Given the description of an element on the screen output the (x, y) to click on. 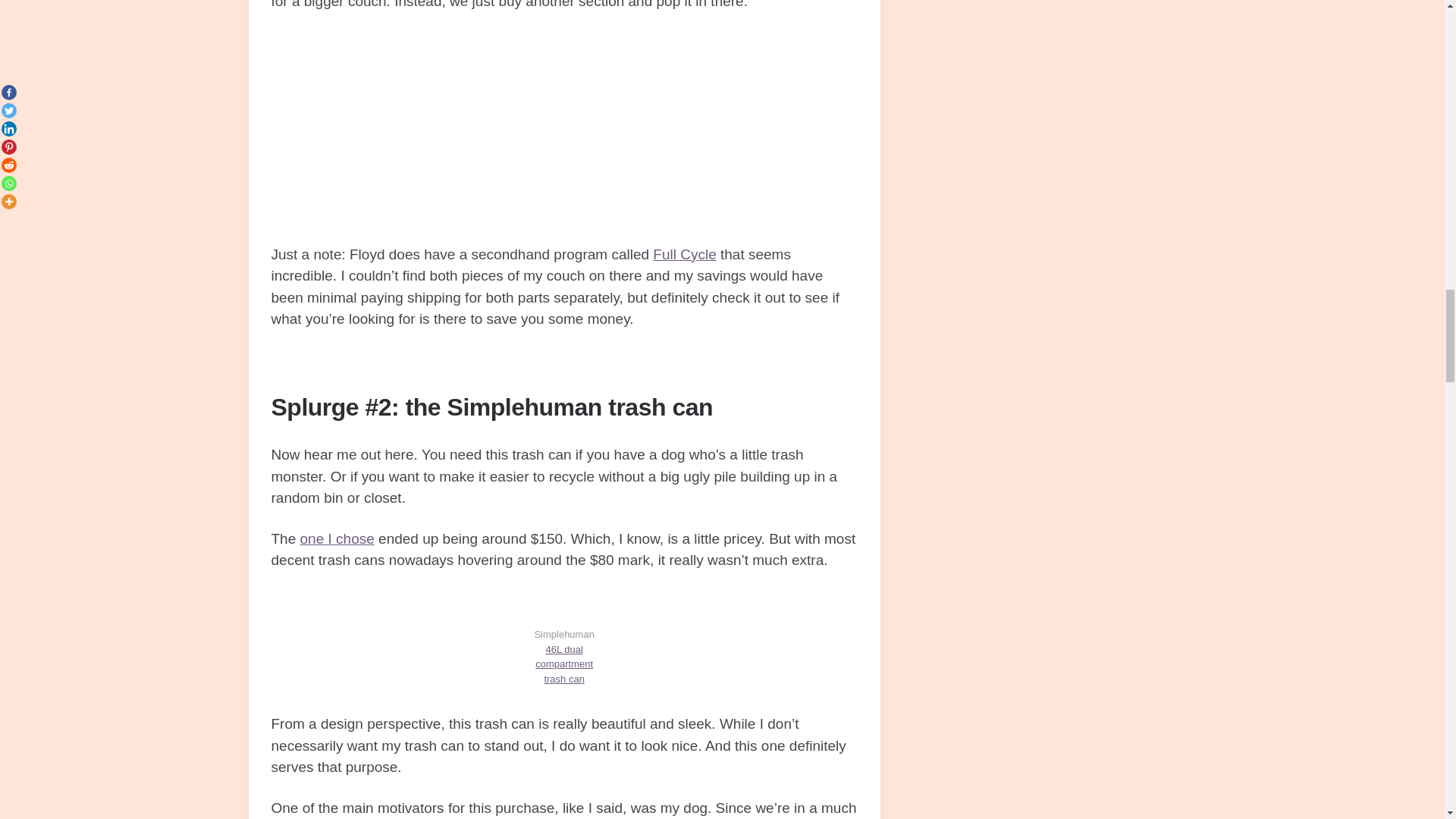
Advertisement (563, 137)
